Given the description of an element on the screen output the (x, y) to click on. 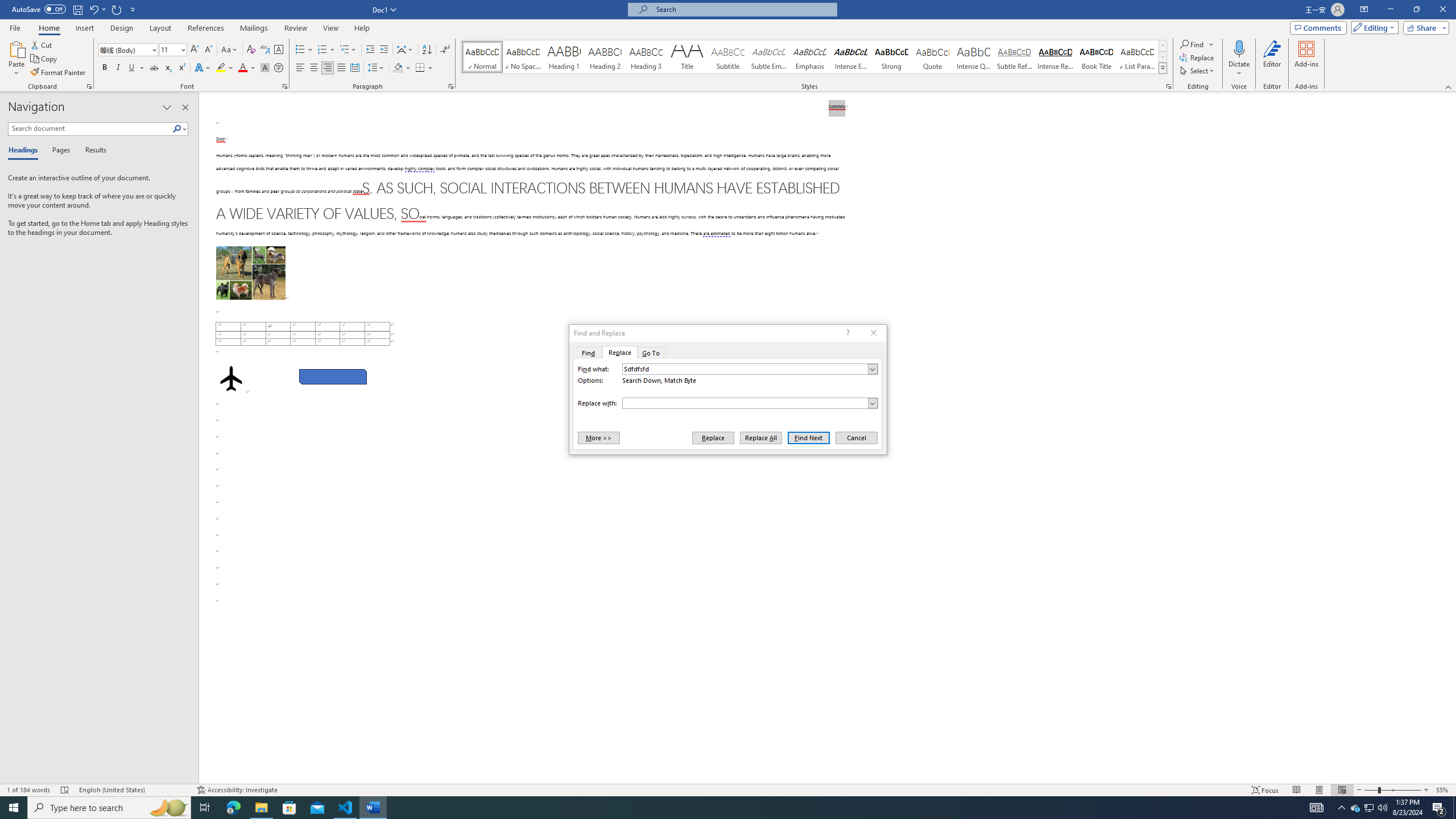
Sort... (426, 49)
Font (124, 49)
Class: NetUIImage (1162, 68)
Search (177, 128)
Zoom (1392, 790)
Web Layout (1342, 790)
Customize Quick Access Toolbar (133, 9)
Layout (160, 28)
Text Highlight Color Yellow (220, 67)
Line and Paragraph Spacing (376, 67)
Increase Indent (383, 49)
Align Left (300, 67)
Bold (104, 67)
System (6, 6)
Cut (42, 44)
